Given the description of an element on the screen output the (x, y) to click on. 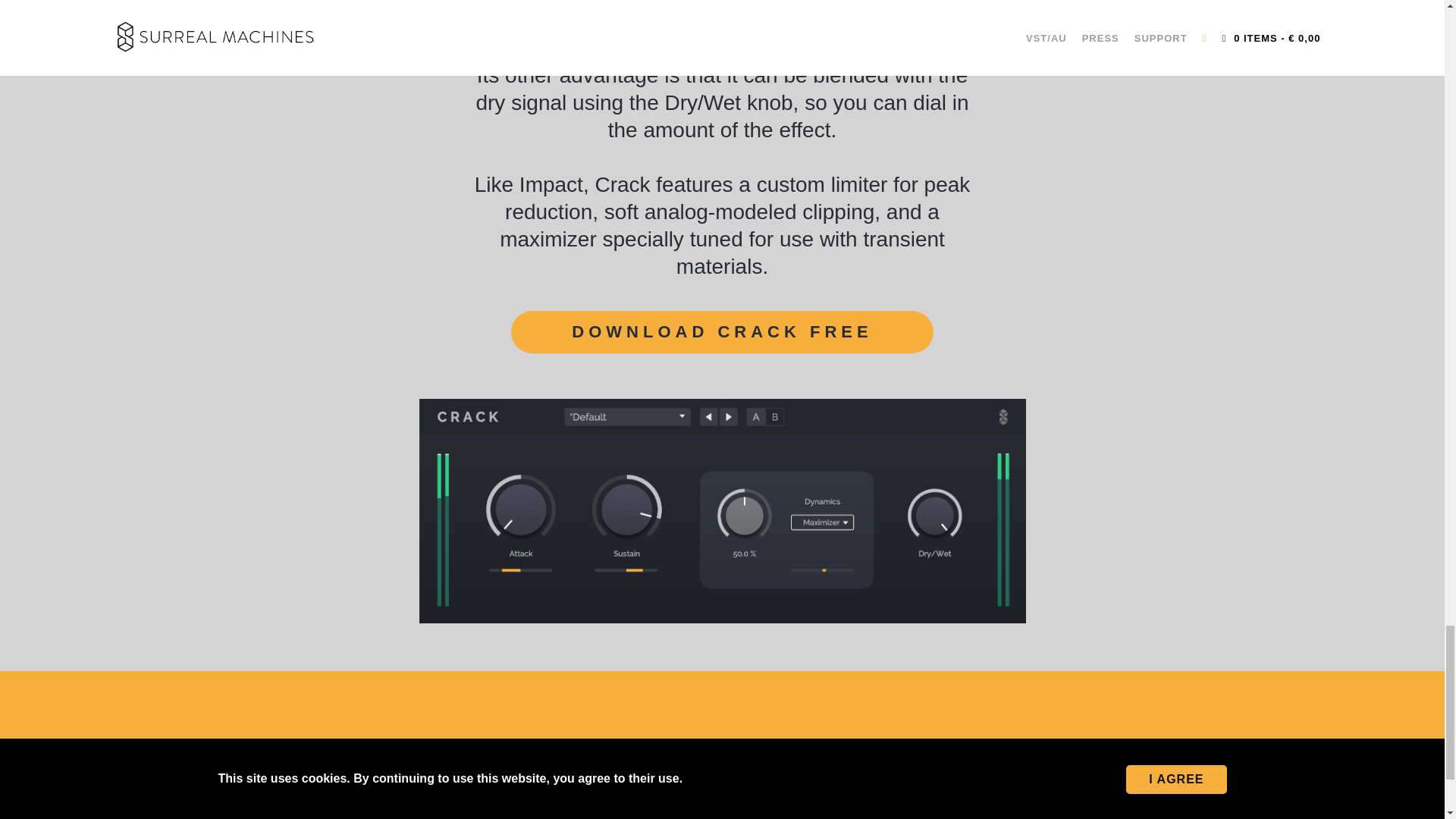
DOWNLOAD CRACK FREE (722, 331)
Subscribe (341, 798)
Subscribe (341, 798)
